Given the description of an element on the screen output the (x, y) to click on. 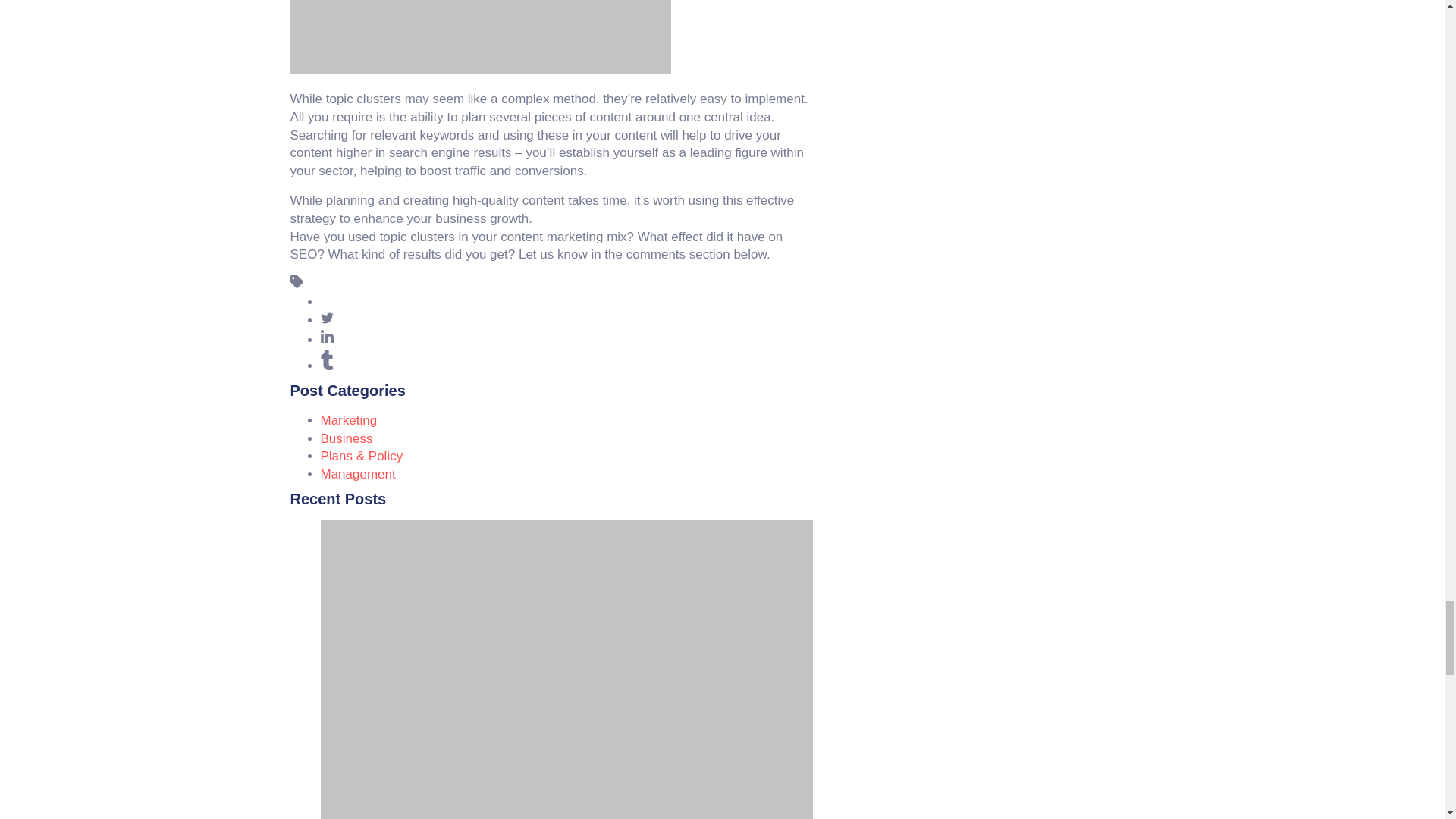
Marketing (348, 420)
Management (357, 473)
Business (346, 438)
